Given the description of an element on the screen output the (x, y) to click on. 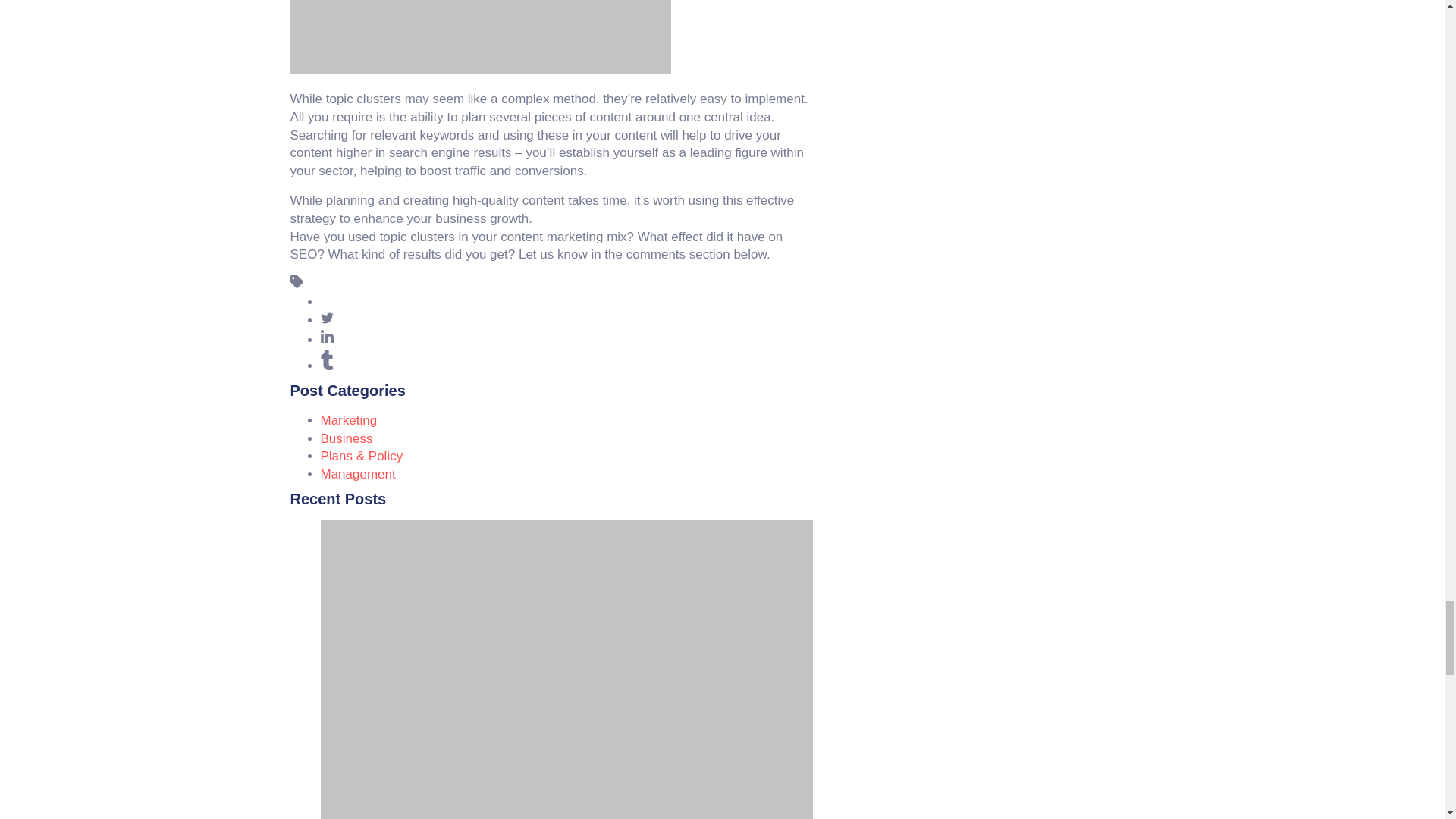
Marketing (348, 420)
Management (357, 473)
Business (346, 438)
